Given the description of an element on the screen output the (x, y) to click on. 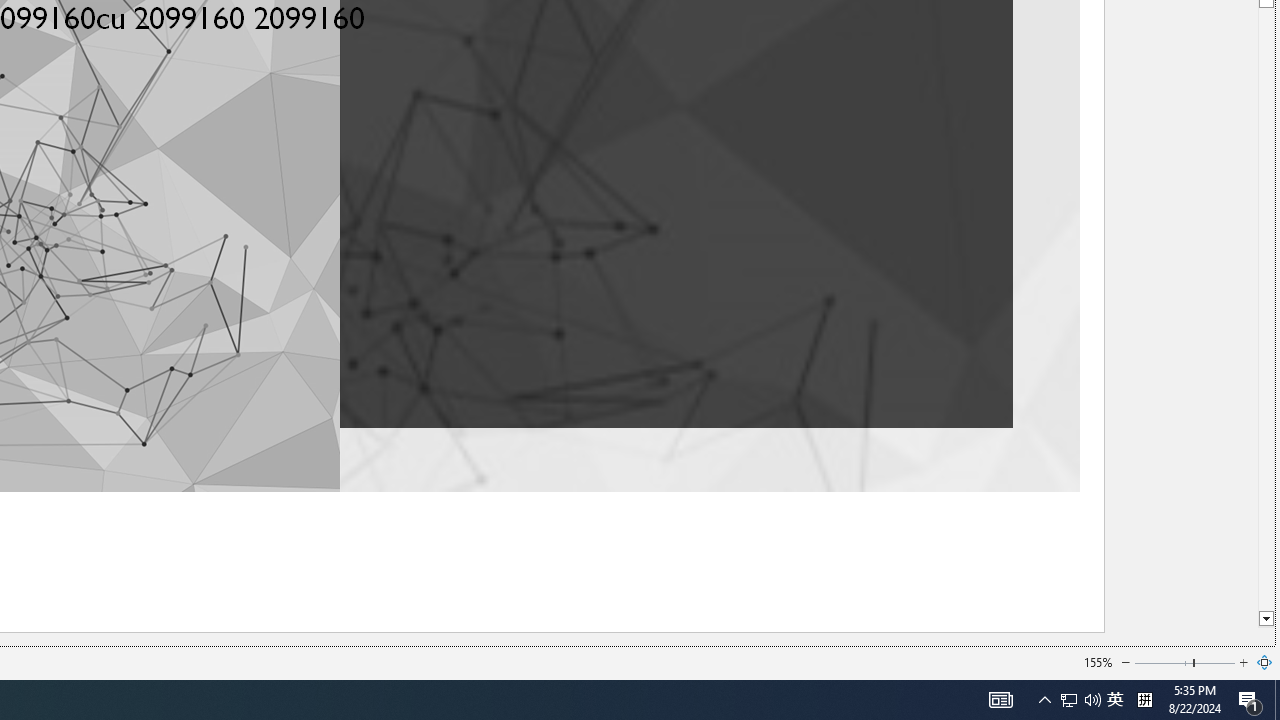
Zoom to Page (1265, 662)
Page right (1215, 662)
Page left (1163, 662)
155% (1098, 662)
